Given the description of an element on the screen output the (x, y) to click on. 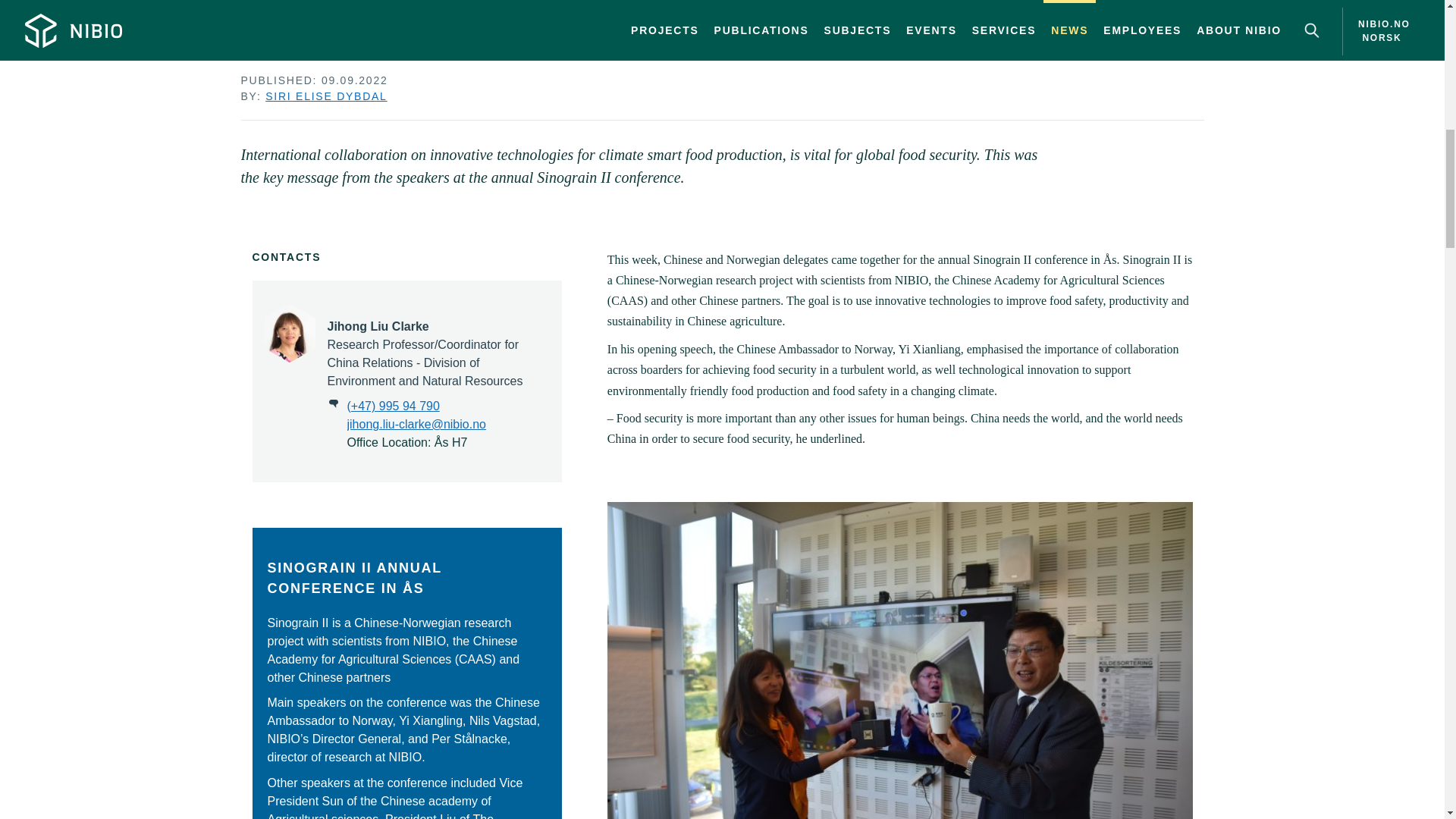
SIRI ELISE DYBDAL (325, 96)
